Given the description of an element on the screen output the (x, y) to click on. 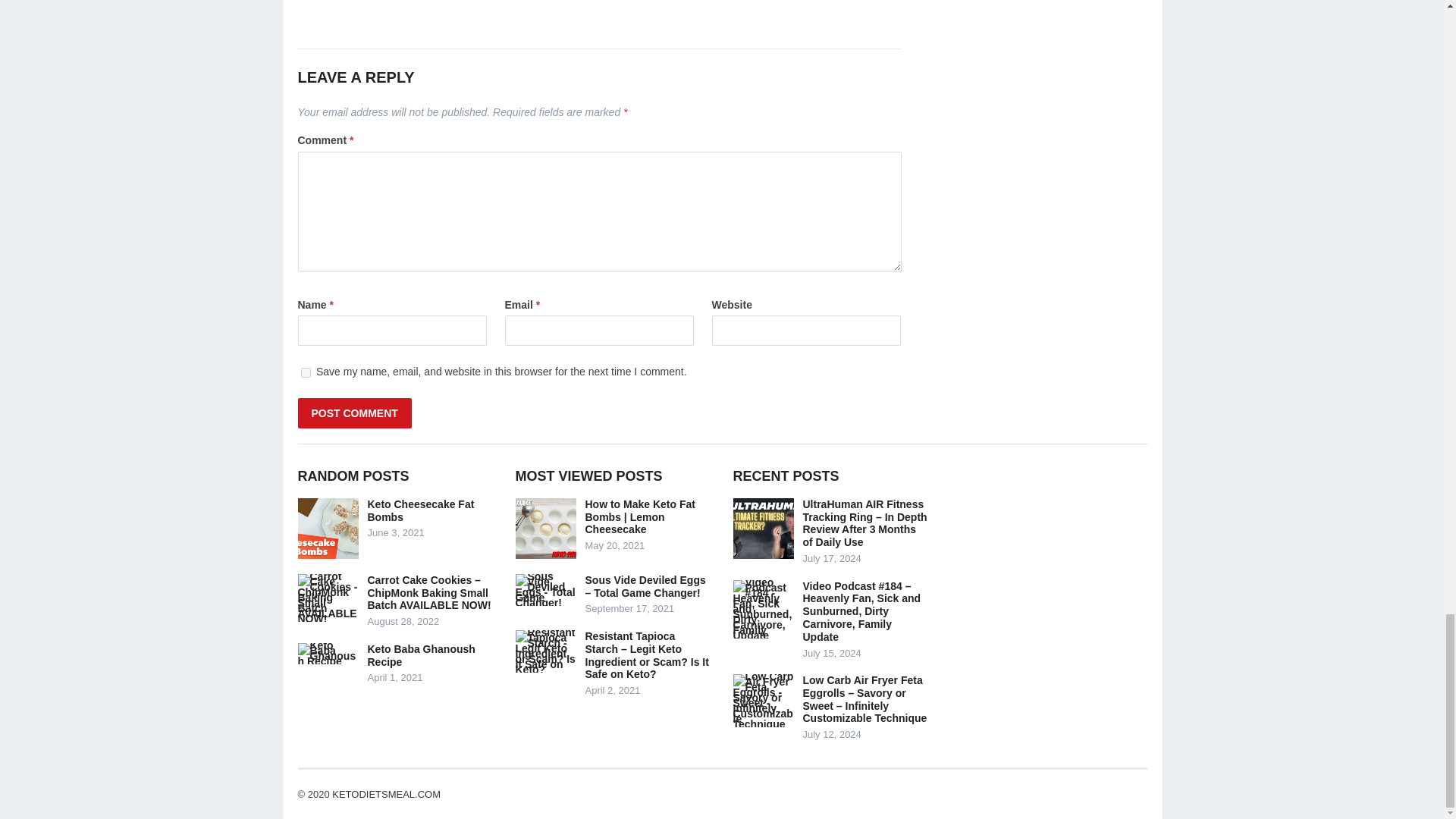
yes (304, 372)
Post Comment (353, 413)
